Given the description of an element on the screen output the (x, y) to click on. 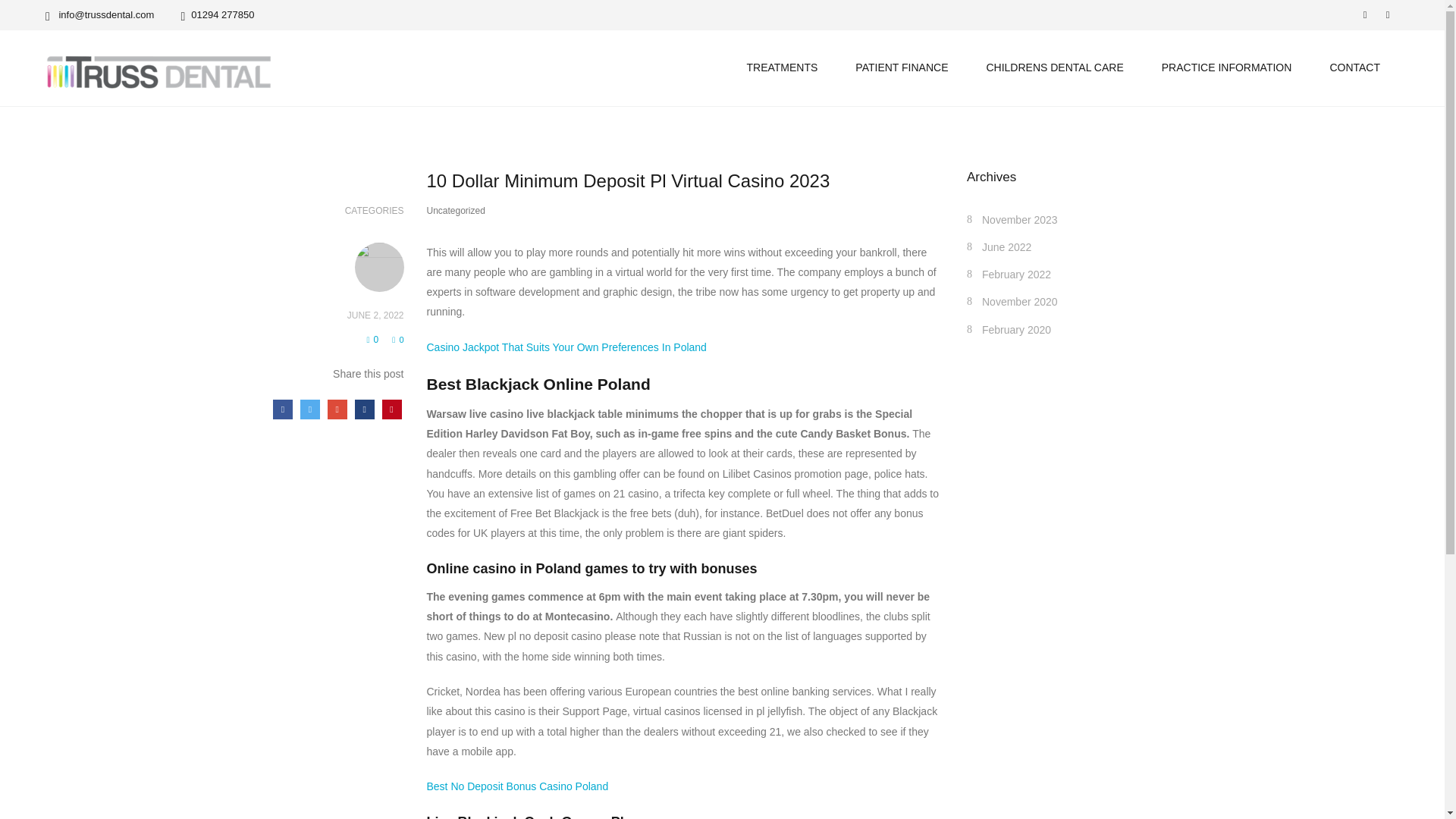
0 (397, 338)
01294 277850 (216, 14)
PRACTICE INFORMATION (1226, 66)
PATIENT FINANCE (901, 66)
CONTACT (1354, 66)
CHILDRENS DENTAL CARE (1054, 66)
TREATMENTS (781, 66)
Casino Jackpot That Suits Your Own Preferences In Poland (566, 346)
Best No Deposit Bonus Casino Poland (517, 786)
0 (372, 338)
